Given the description of an element on the screen output the (x, y) to click on. 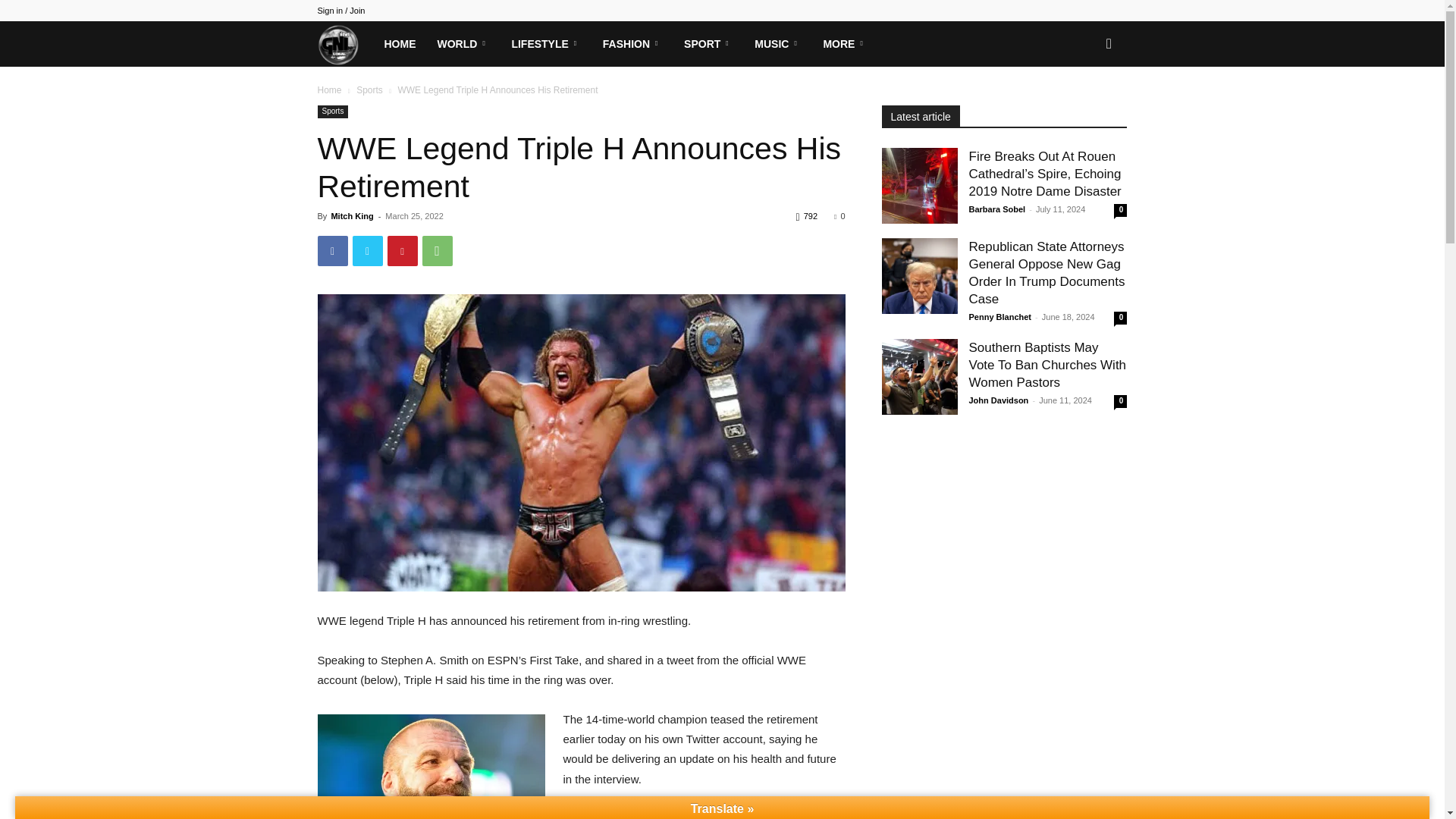
HOME (399, 43)
LIFESTYLE (545, 43)
Global News Ink (344, 43)
WORLD (463, 43)
